Given the description of an element on the screen output the (x, y) to click on. 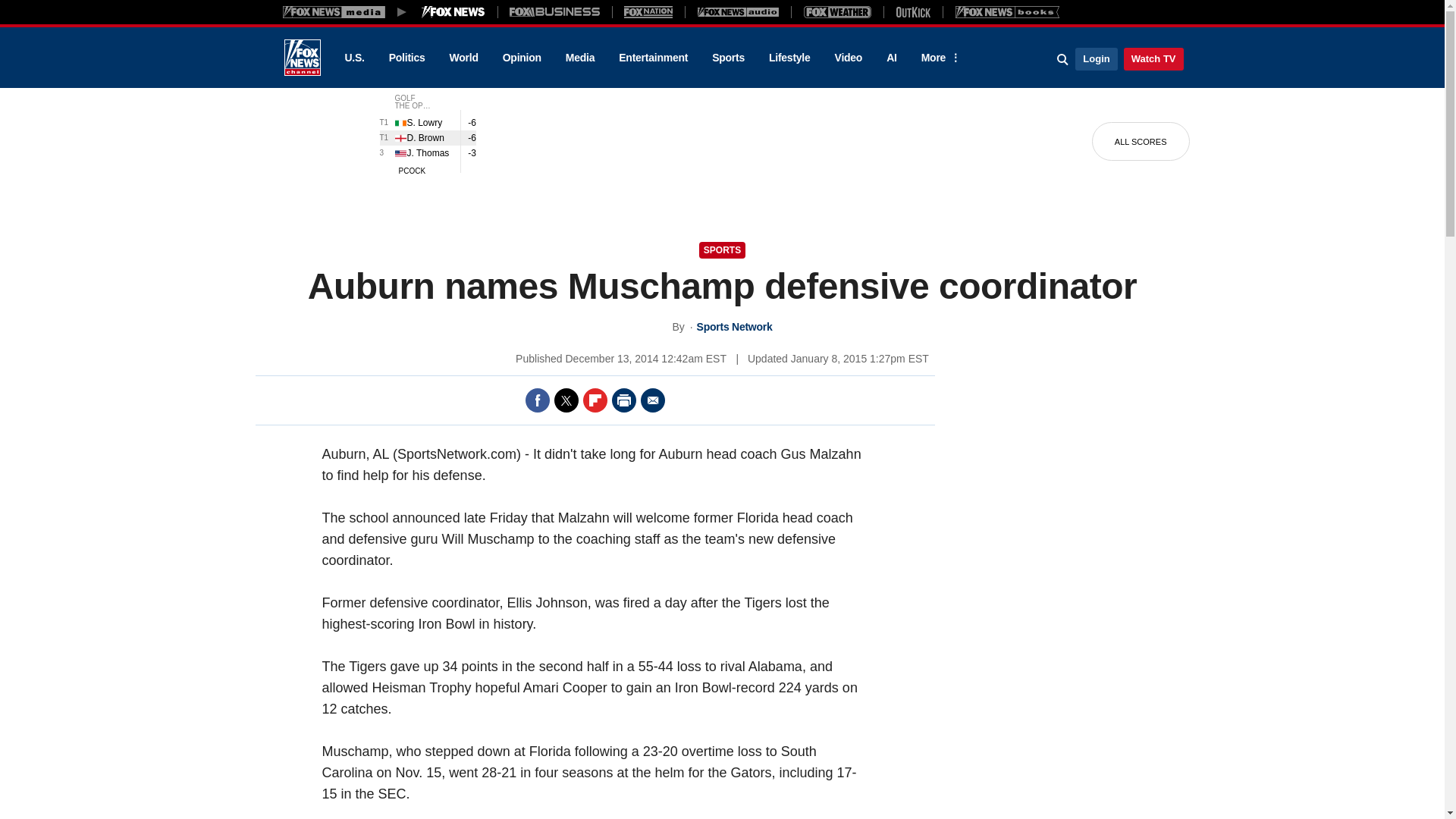
Fox News Media (453, 11)
Fox News Audio (737, 11)
Politics (407, 57)
Sports (728, 57)
World (464, 57)
Login (1095, 58)
Fox News (301, 57)
Fox Business (554, 11)
Watch TV (1153, 58)
Fox Nation (648, 11)
Opinion (521, 57)
Video (848, 57)
AI (891, 57)
More (938, 57)
Lifestyle (789, 57)
